Given the description of an element on the screen output the (x, y) to click on. 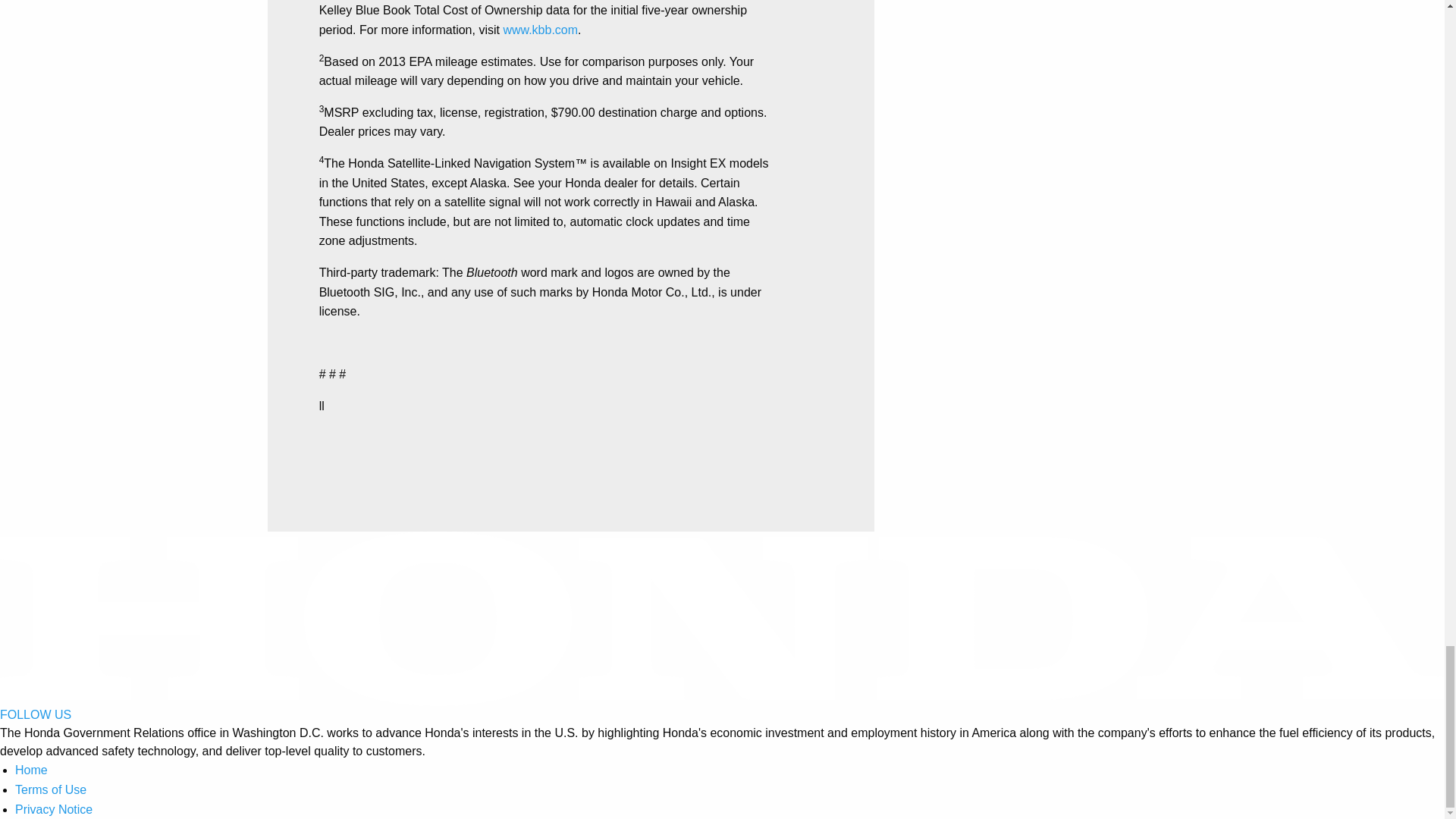
Home (31, 769)
www.kbb.com (540, 29)
Privacy Notice (53, 809)
FOLLOW US (35, 714)
Terms of Use (49, 789)
